Given the description of an element on the screen output the (x, y) to click on. 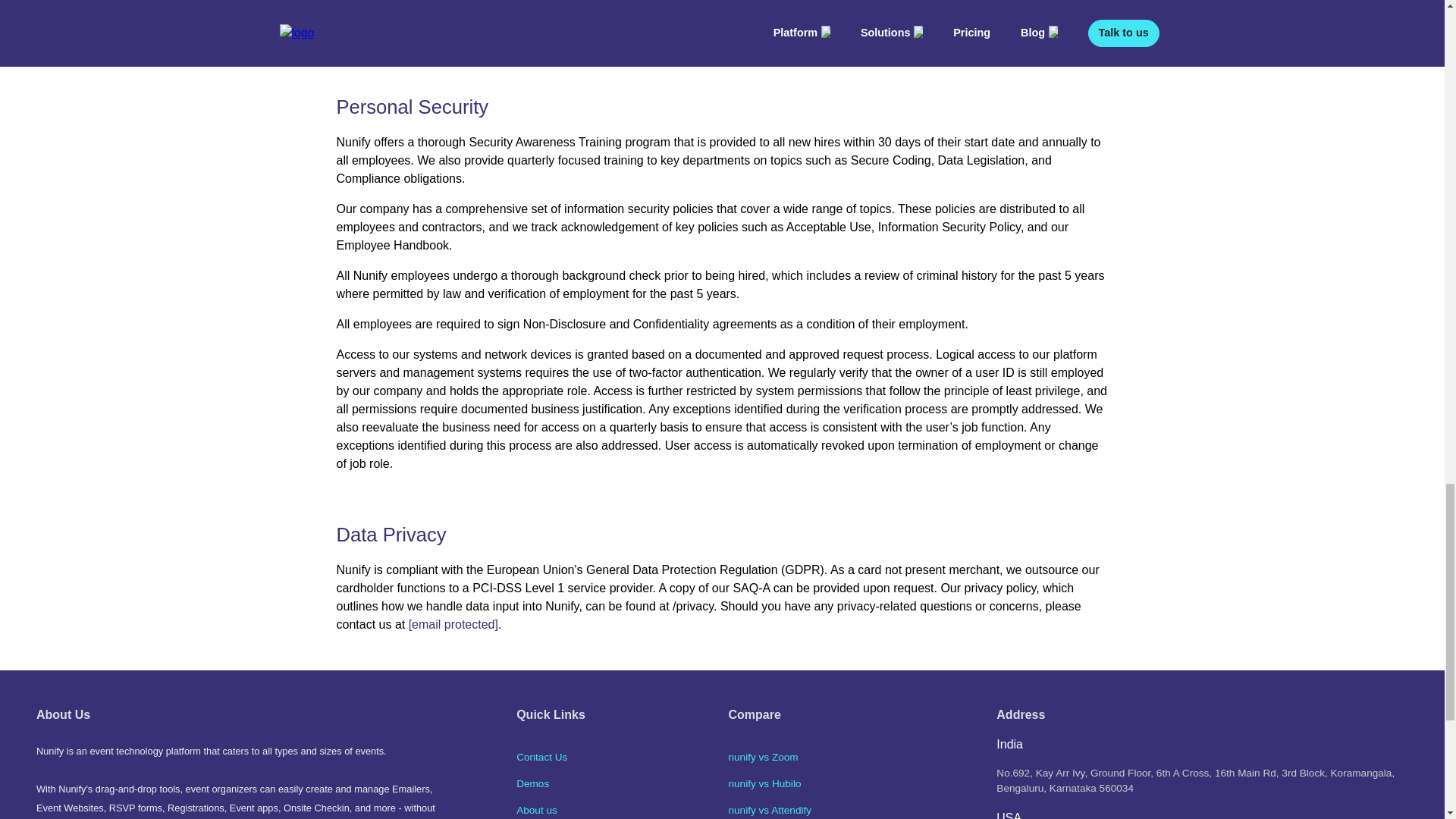
Contact Us (541, 756)
Demos (532, 783)
nunify vs Hubilo (764, 783)
nunify vs Zoom (762, 756)
nunify vs Attendify (769, 809)
About us (536, 809)
